Given the description of an element on the screen output the (x, y) to click on. 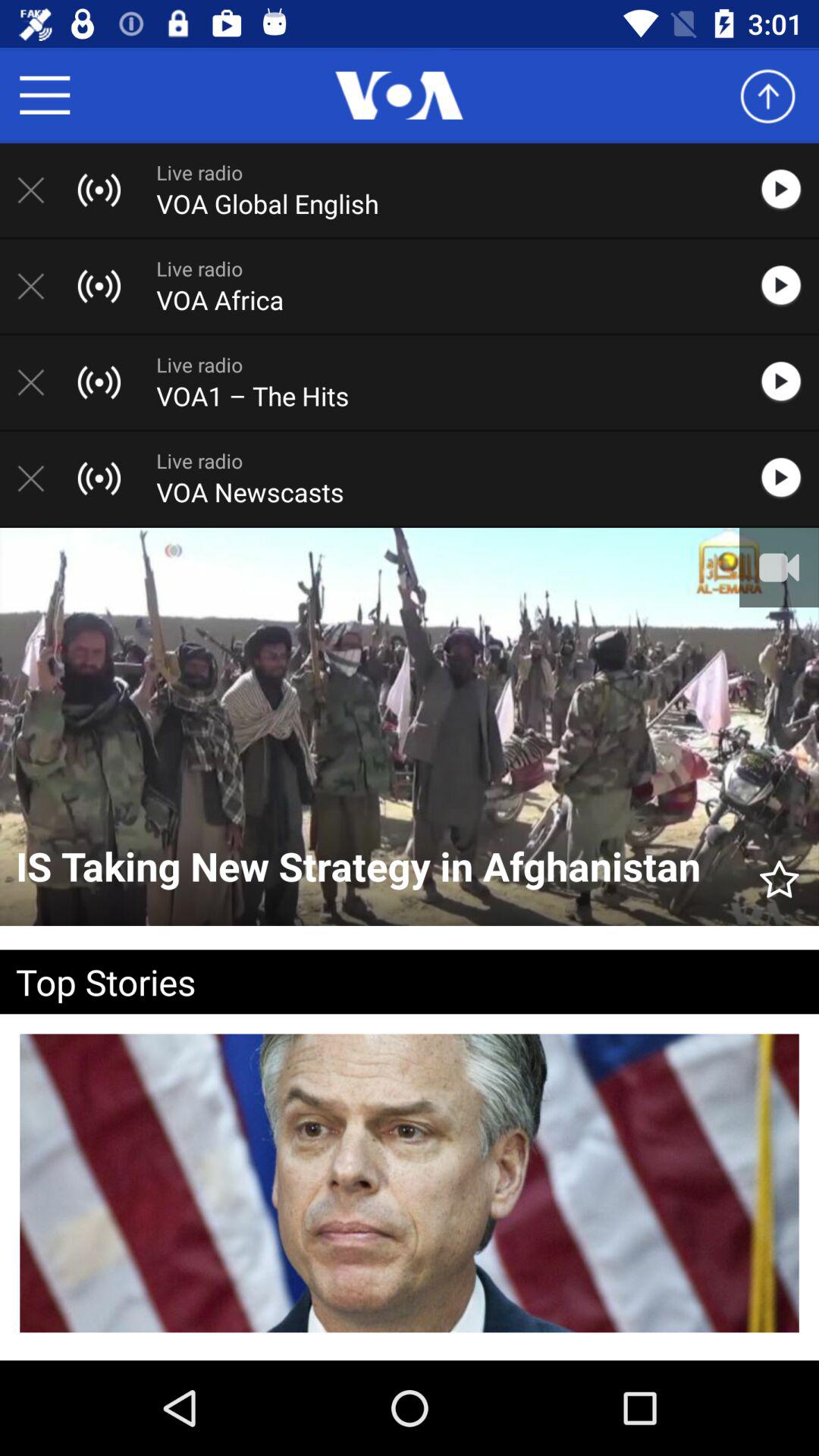
turn on item to the right of the is taking new item (779, 872)
